Given the description of an element on the screen output the (x, y) to click on. 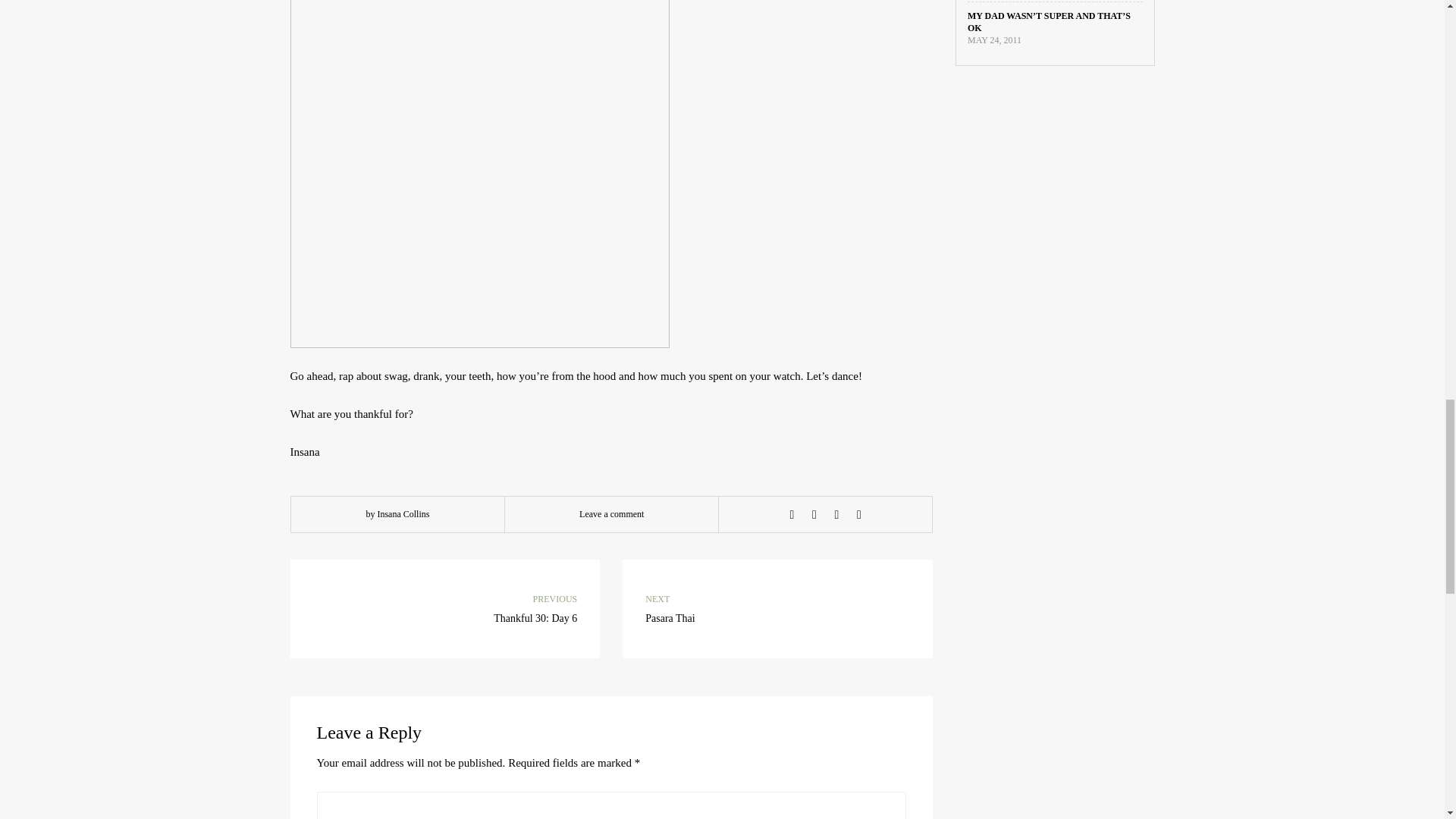
Share with Google Plus (836, 514)
Share this (791, 514)
Tweet this (778, 608)
Pin this (814, 514)
Leave a comment (858, 514)
